Given the description of an element on the screen output the (x, y) to click on. 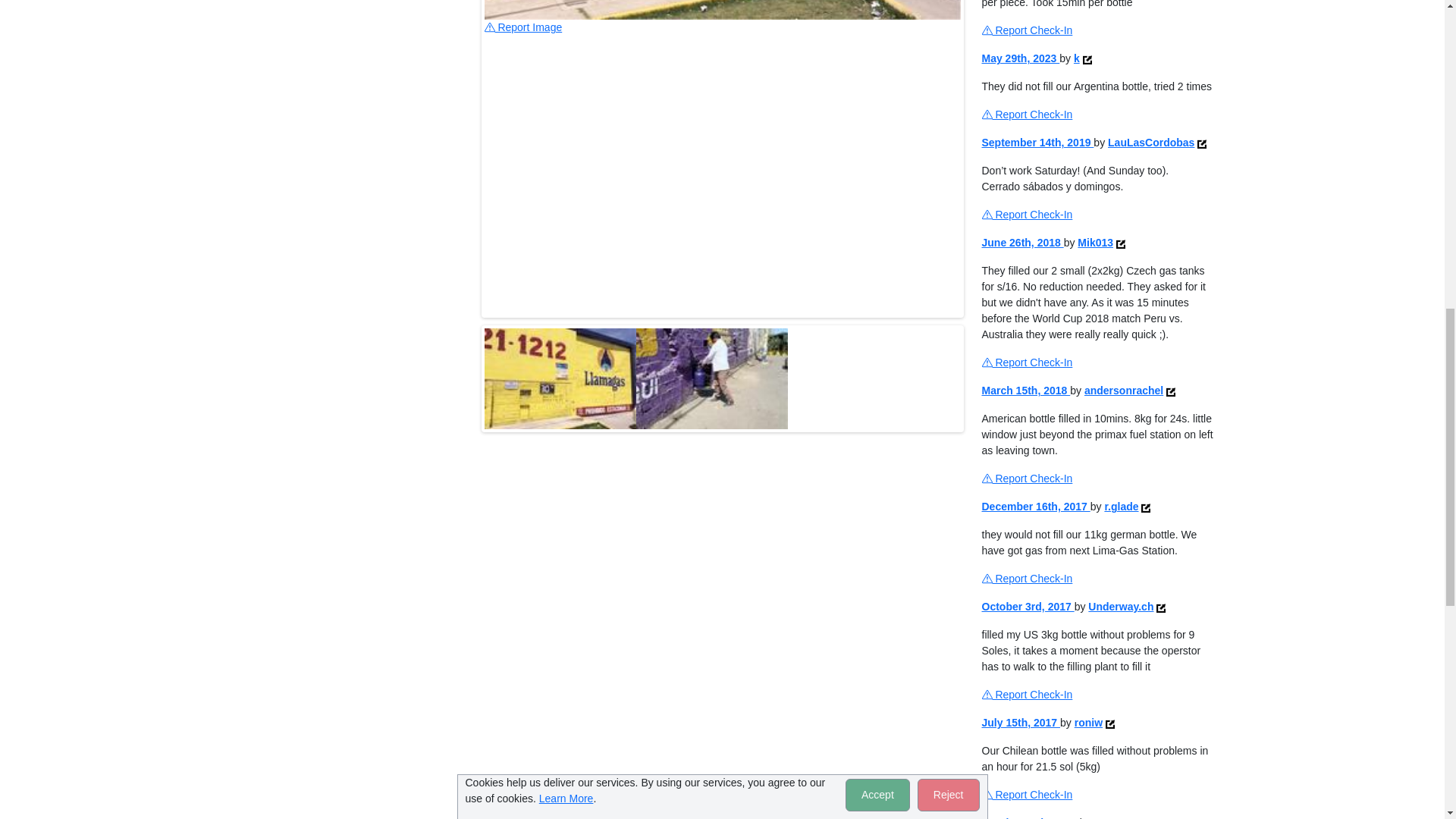
Report Image (522, 27)
